Given the description of an element on the screen output the (x, y) to click on. 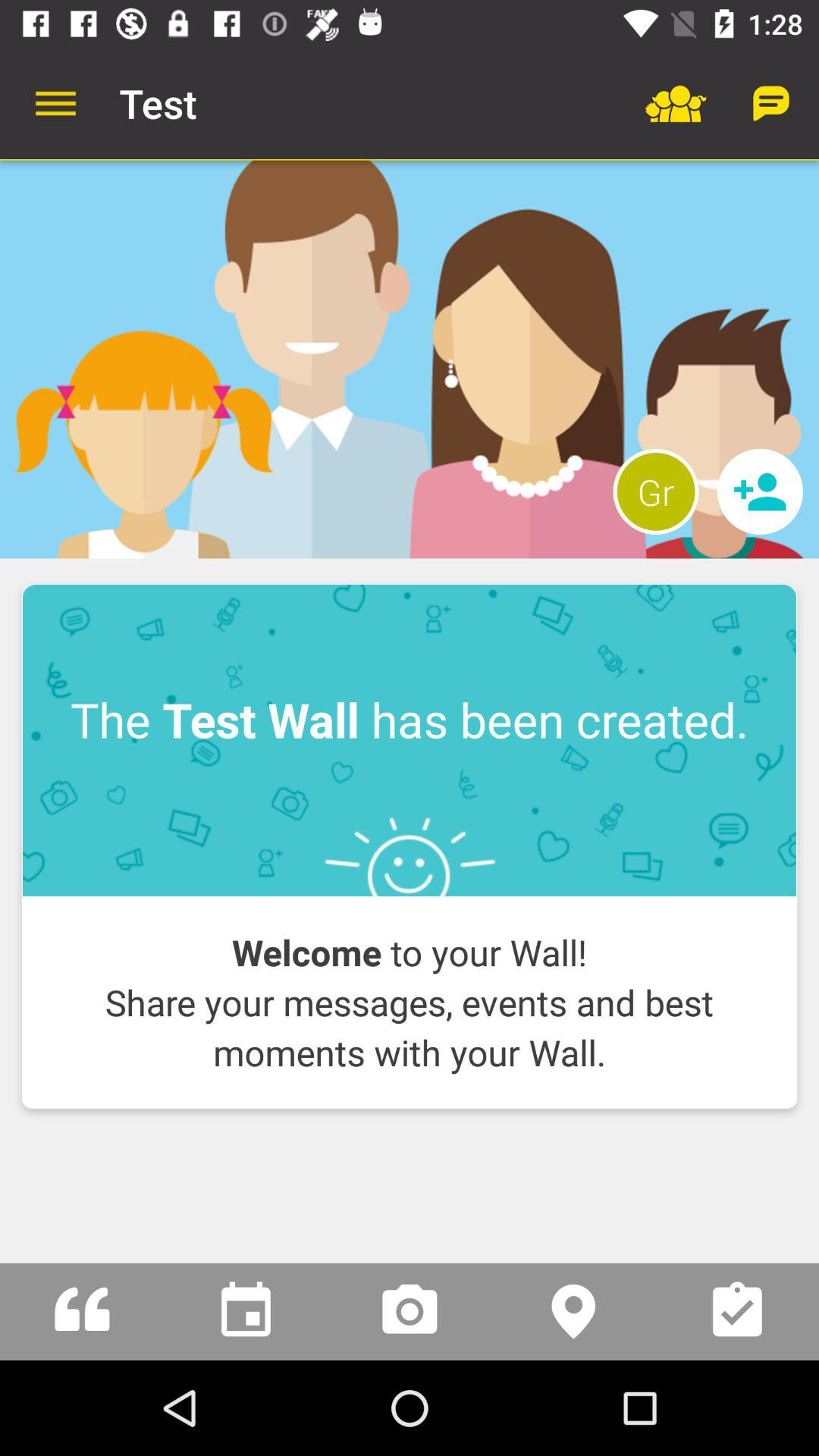
calendar (245, 1311)
